Given the description of an element on the screen output the (x, y) to click on. 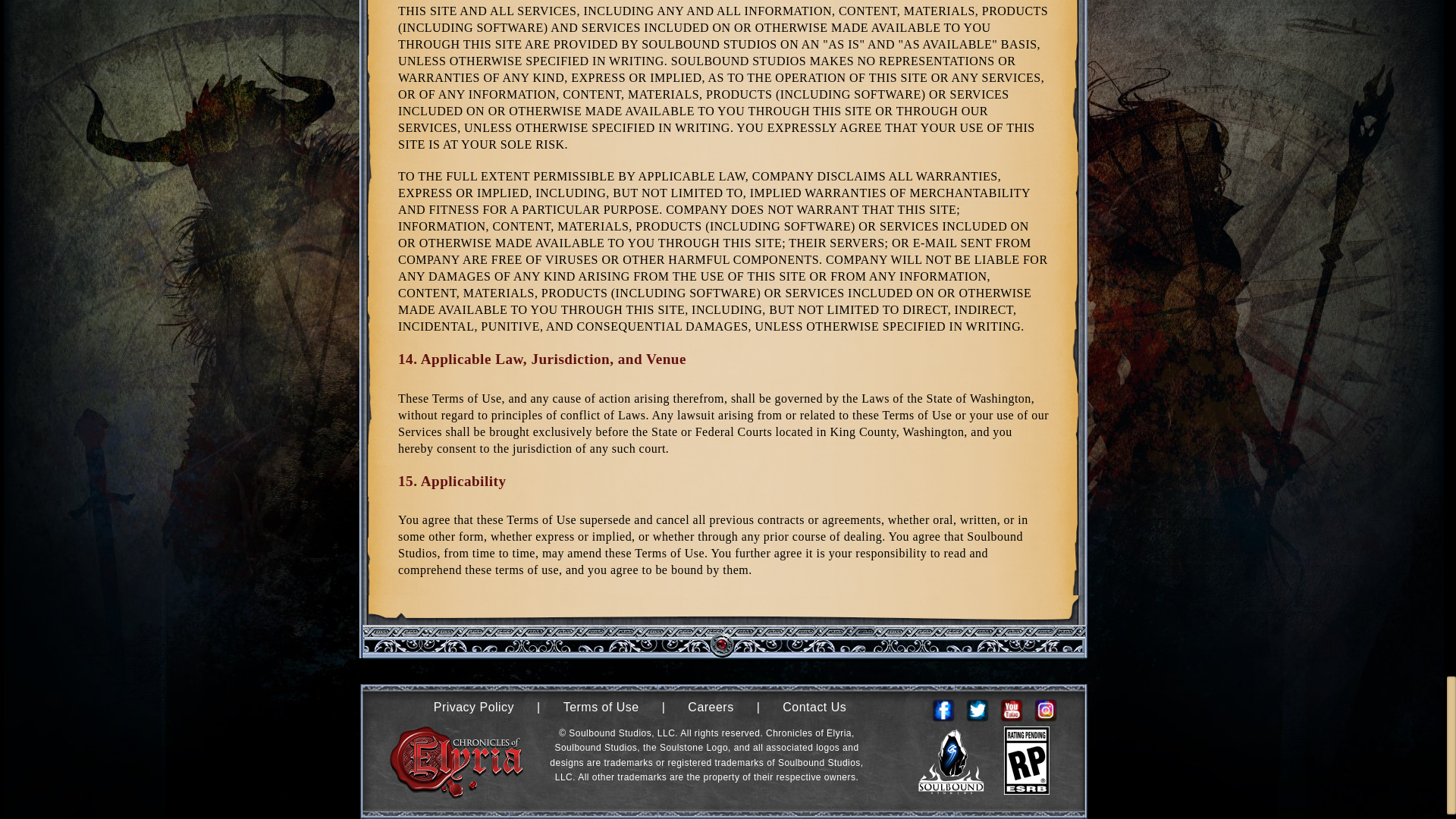
Careers (710, 707)
Privacy Policy (473, 707)
Terms of Use (601, 707)
